Given the description of an element on the screen output the (x, y) to click on. 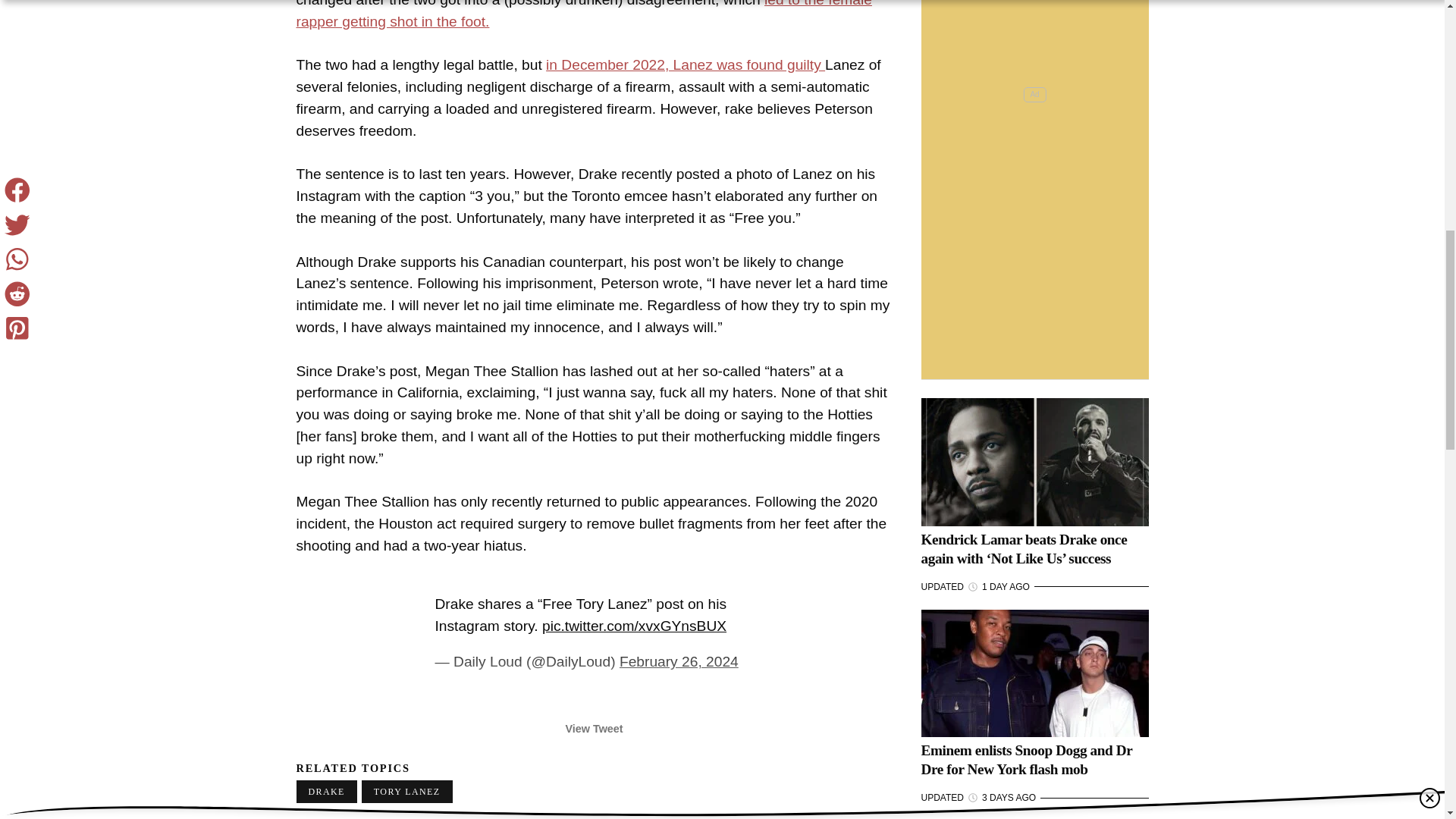
February 26, 2024 (679, 661)
led to the female rapper getting shot in the foot. (582, 14)
TORY LANEZ (406, 791)
DRAKE (325, 791)
in December 2022, Lanez was found guilty (685, 64)
